Given the description of an element on the screen output the (x, y) to click on. 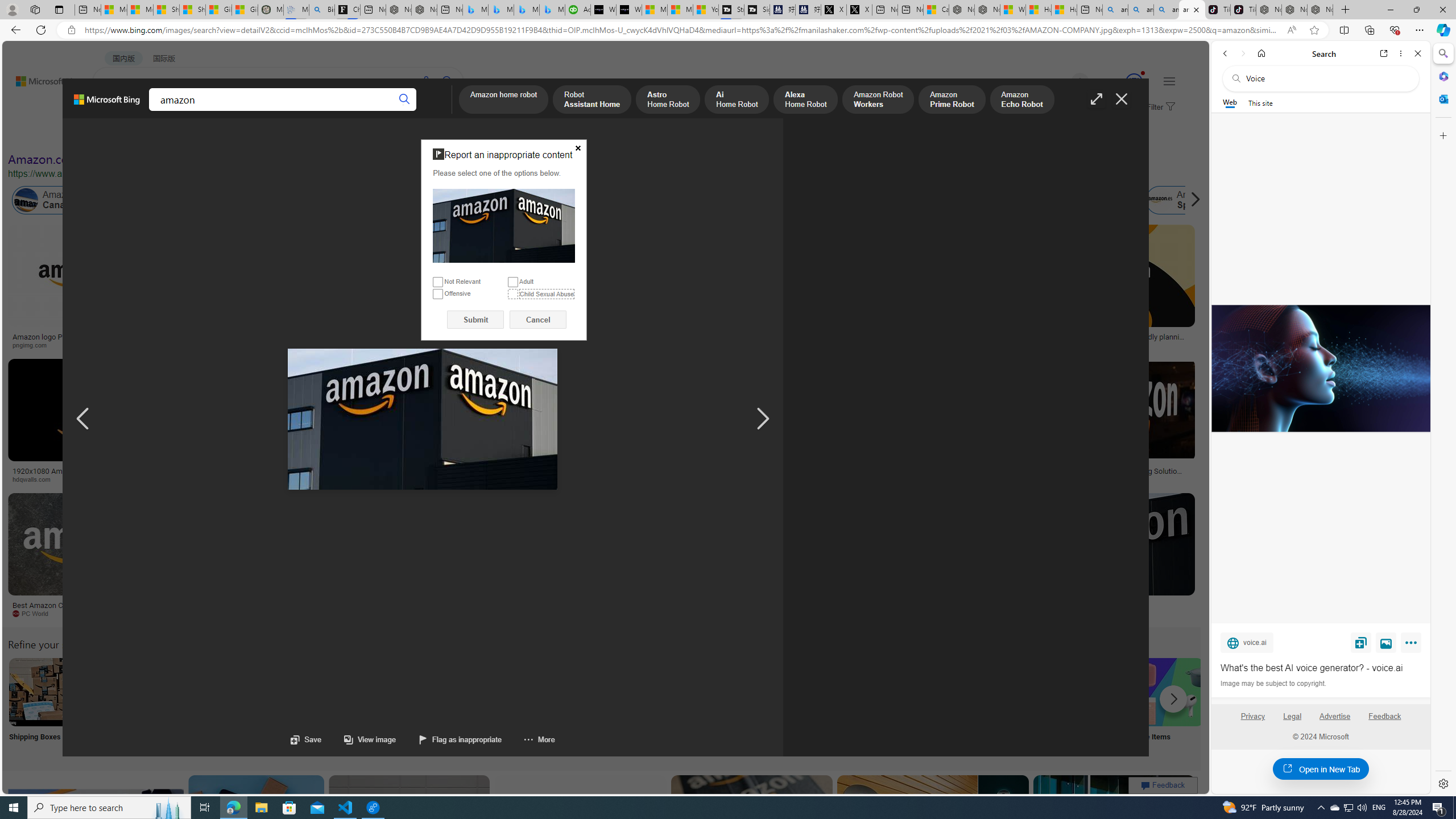
Dallas Morning News (791, 479)
Amazon (1105, 605)
Amazon Prime Online (137, 200)
Amazon Canada Online (65, 199)
Amazon Logo Png Hd Wallpaper | Images and Photos finder (559, 340)
Amazon Prime Online (172, 199)
Amazon Retail Store (493, 691)
Amazon Clip Art (192, 691)
Adult (512, 282)
aiophotoz.com (347, 612)
Amazon Clip Art Clip Art (192, 706)
